Given the description of an element on the screen output the (x, y) to click on. 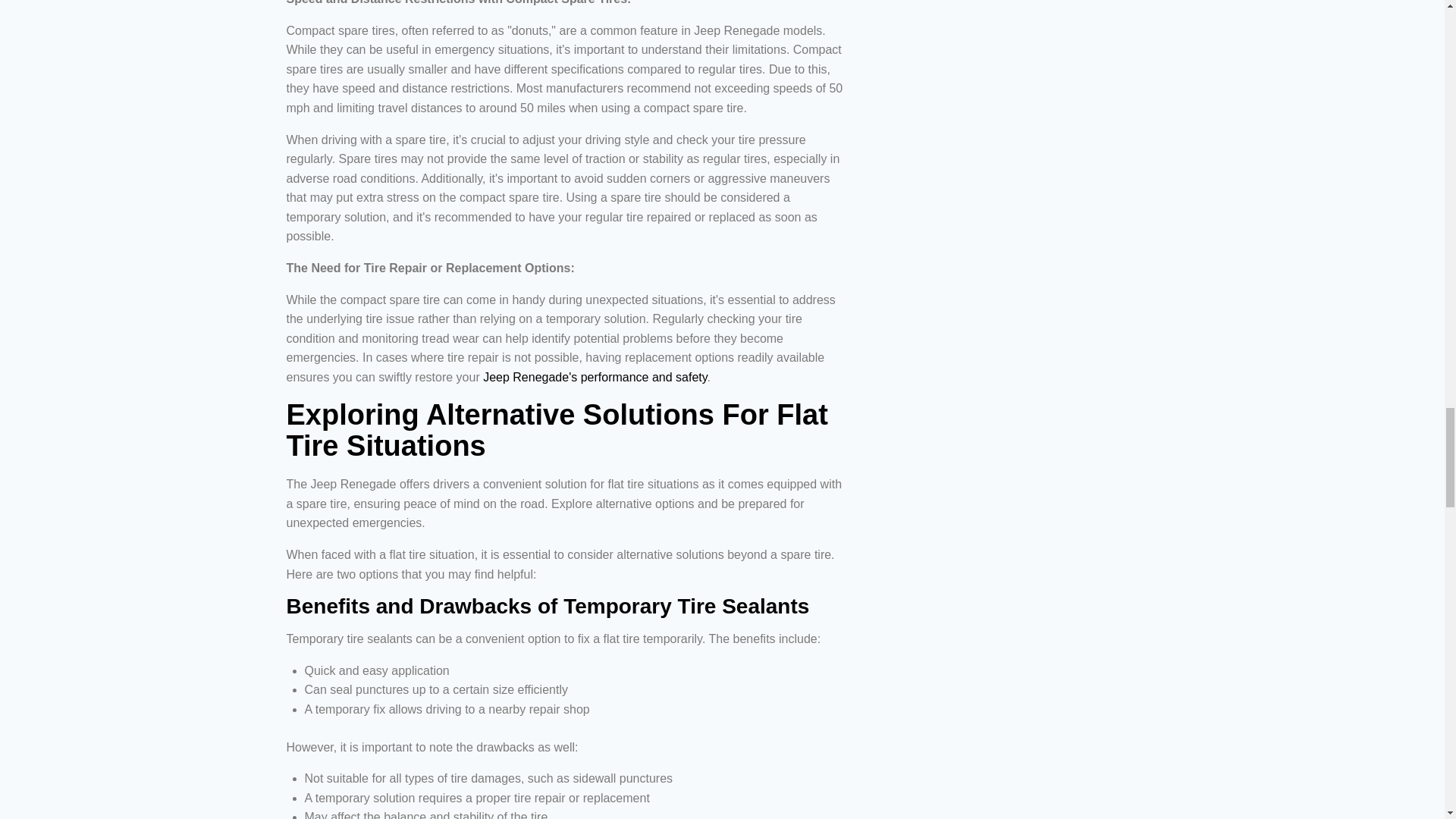
Jeep Renegade's performance and safety (594, 377)
